Given the description of an element on the screen output the (x, y) to click on. 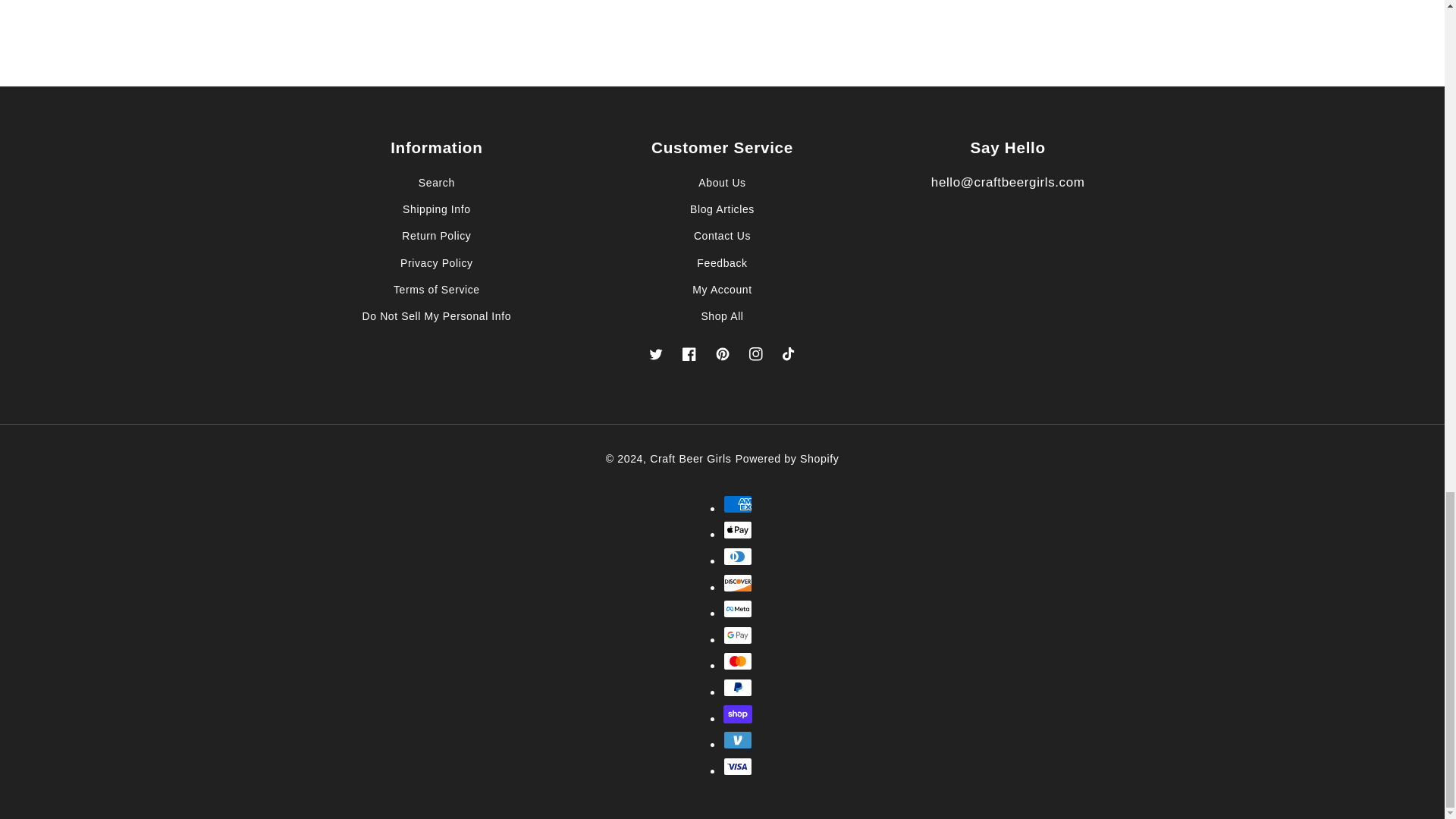
Diners Club (737, 556)
Apple Pay (737, 529)
American Express (737, 504)
